Given the description of an element on the screen output the (x, y) to click on. 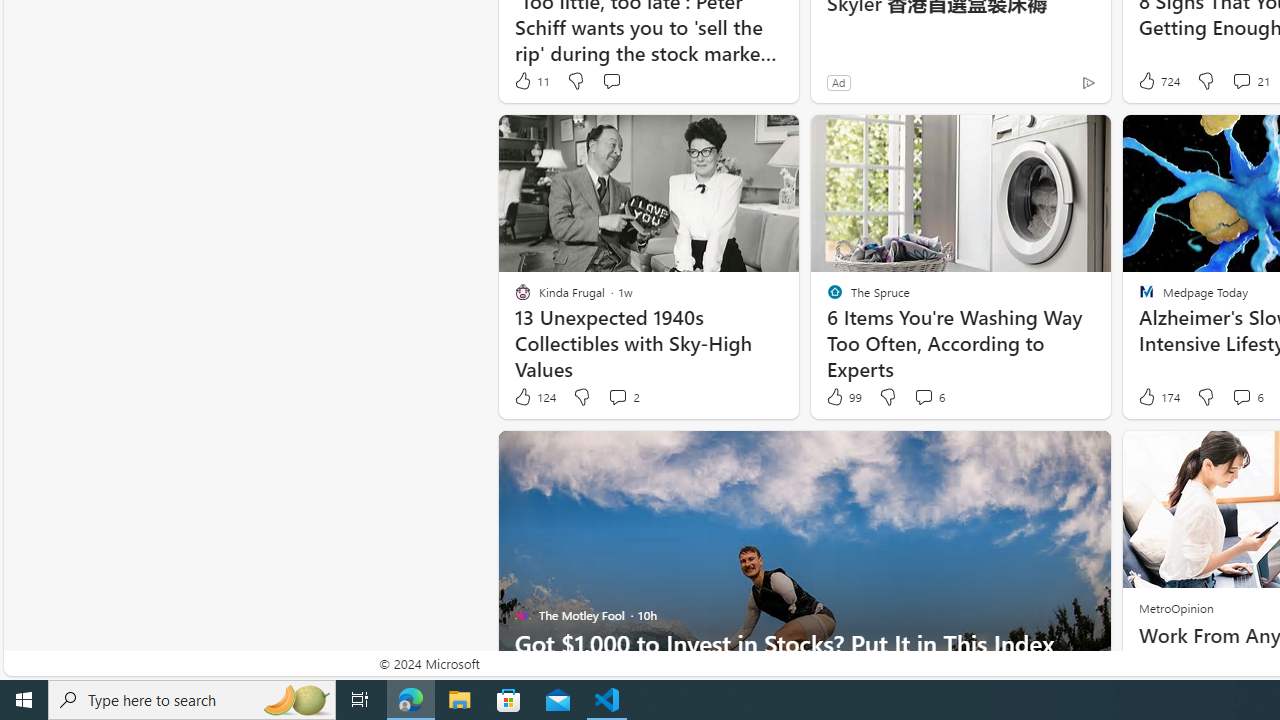
View comments 2 Comment (623, 397)
View comments 6 Comment (1241, 396)
View comments 21 Comment (1241, 80)
174 Like (1157, 397)
View comments 21 Comment (1249, 80)
99 Like (843, 397)
124 Like (534, 397)
11 Like (531, 80)
View comments 6 Comment (1247, 397)
724 Like (1157, 80)
MetroOpinion (1175, 607)
